Given the description of an element on the screen output the (x, y) to click on. 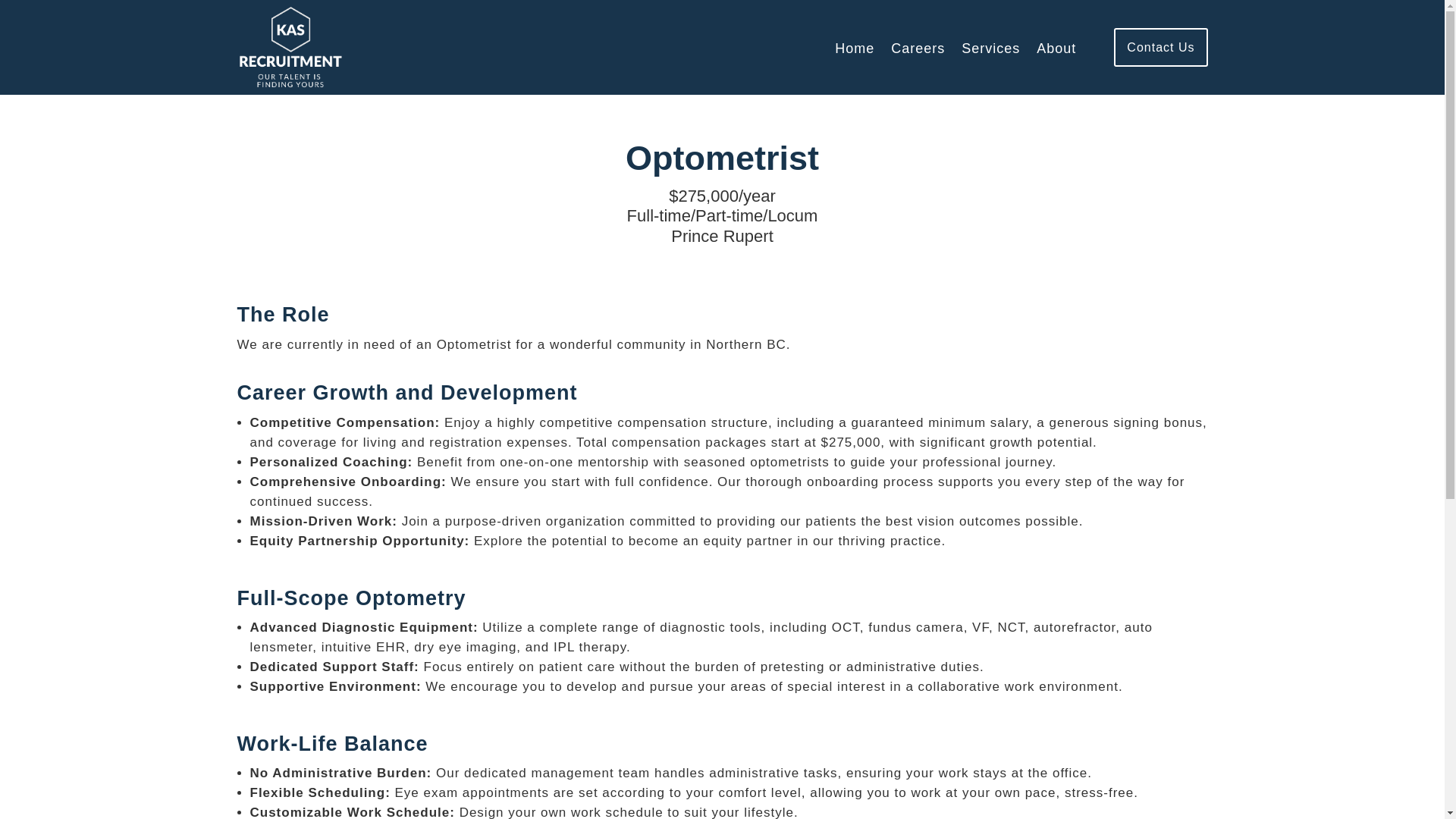
About (1055, 51)
Services (990, 51)
Contact Us (1160, 46)
KAS White Print (289, 47)
Home (854, 51)
Careers (917, 51)
